Given the description of an element on the screen output the (x, y) to click on. 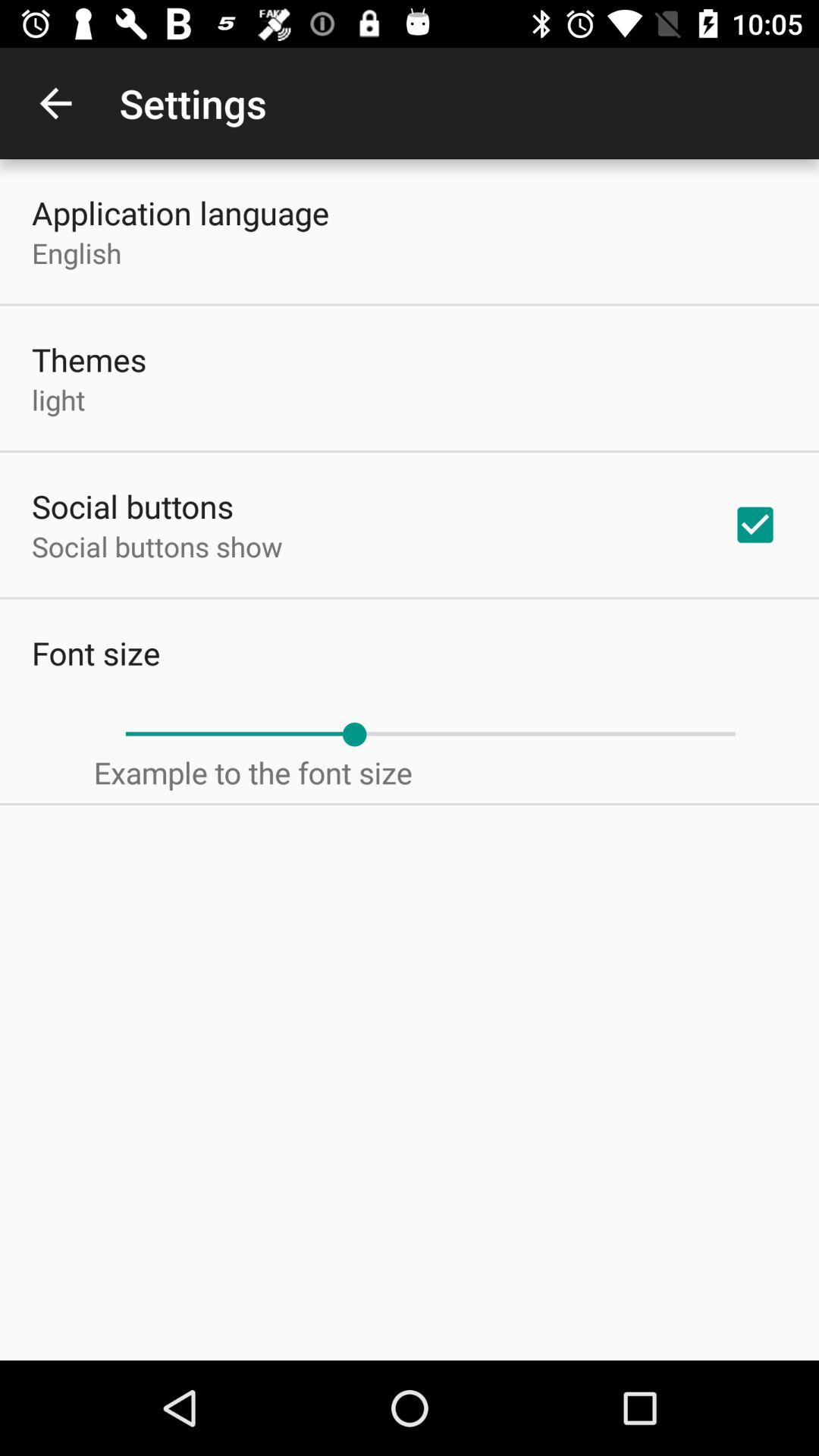
tap light (58, 399)
